Given the description of an element on the screen output the (x, y) to click on. 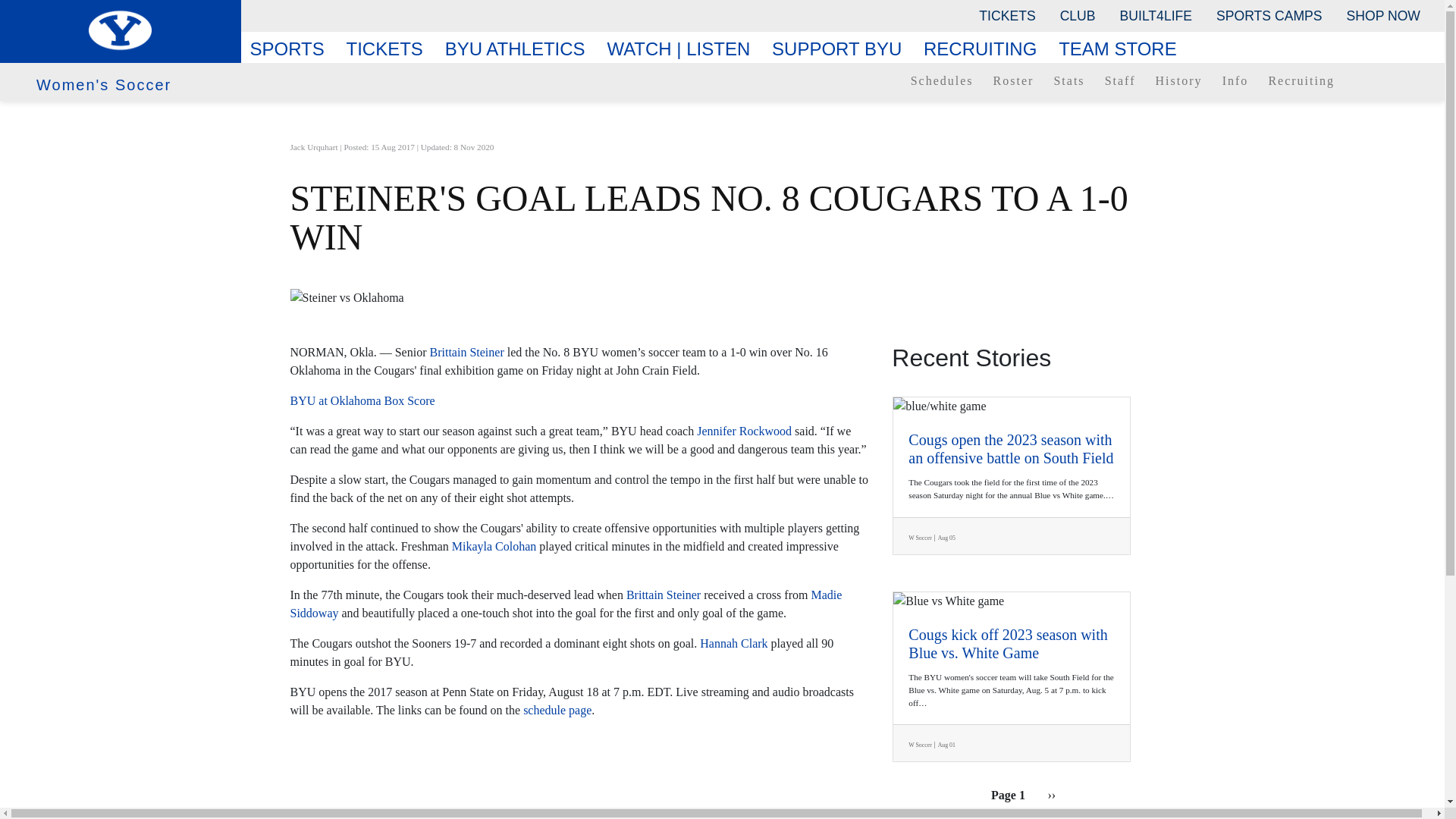
SPORTS CAMPS (1268, 15)
BUILT4LIFE (1156, 15)
TICKETS (1006, 15)
CLUB (1078, 15)
Steiner vs Oklahoma (721, 298)
Go to next page (1051, 794)
SPORTS (292, 49)
SHOP NOW (1383, 15)
